Given the description of an element on the screen output the (x, y) to click on. 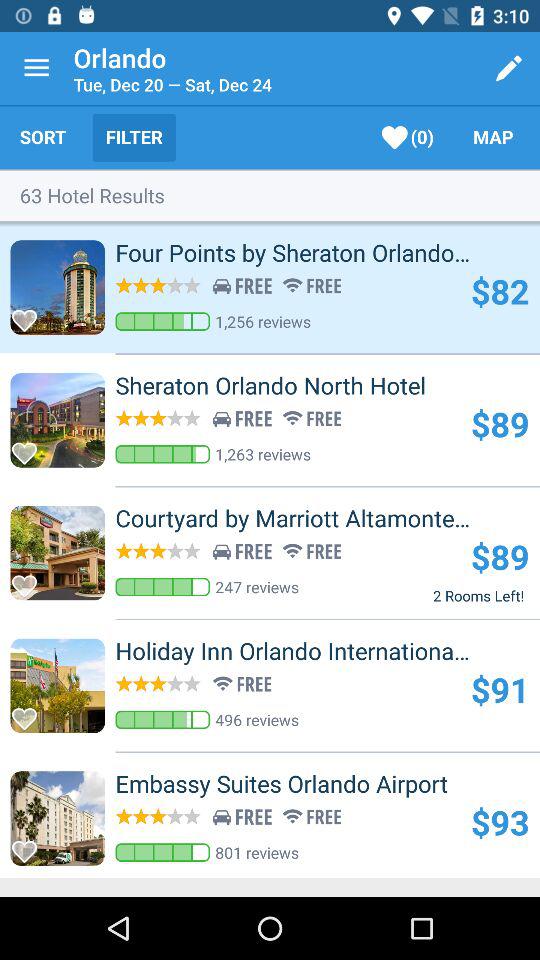
turn on icon below embassy suites orlando item (500, 821)
